Given the description of an element on the screen output the (x, y) to click on. 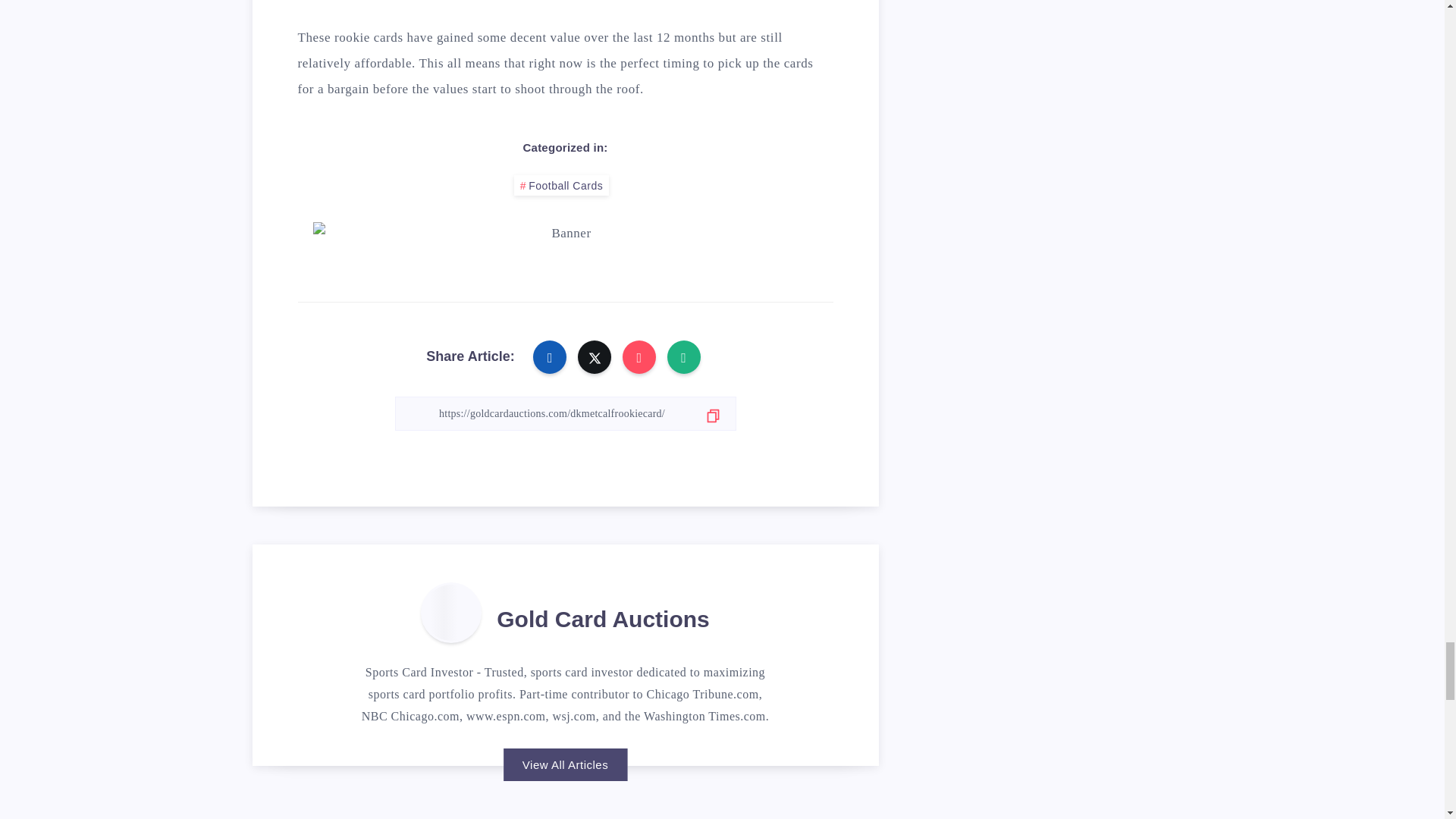
Author: Gold Card Auctions (450, 612)
